Given the description of an element on the screen output the (x, y) to click on. 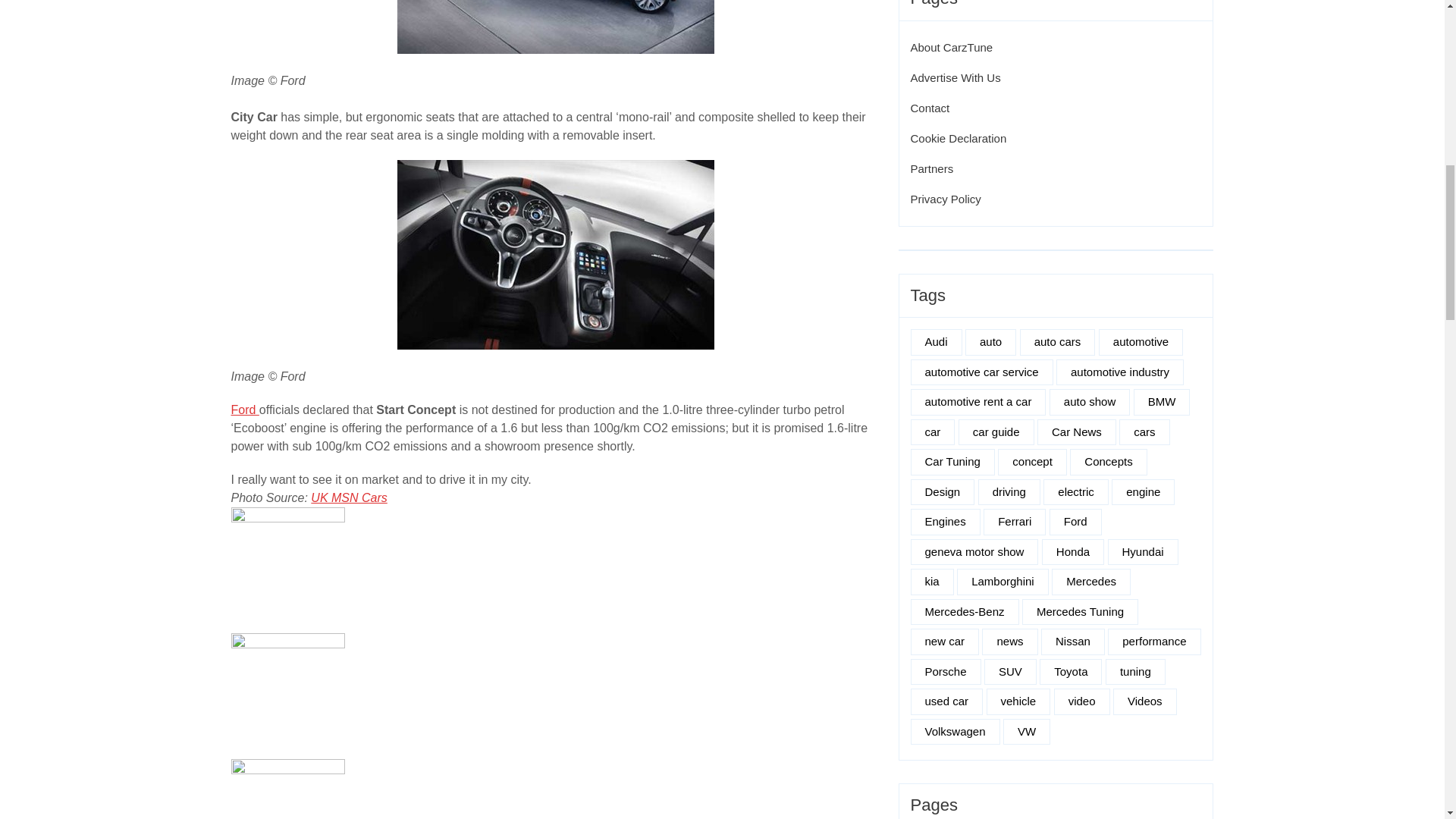
Ford Start City Car Concept (555, 27)
Ford (244, 409)
UK MSN Cars (349, 497)
